Given the description of an element on the screen output the (x, y) to click on. 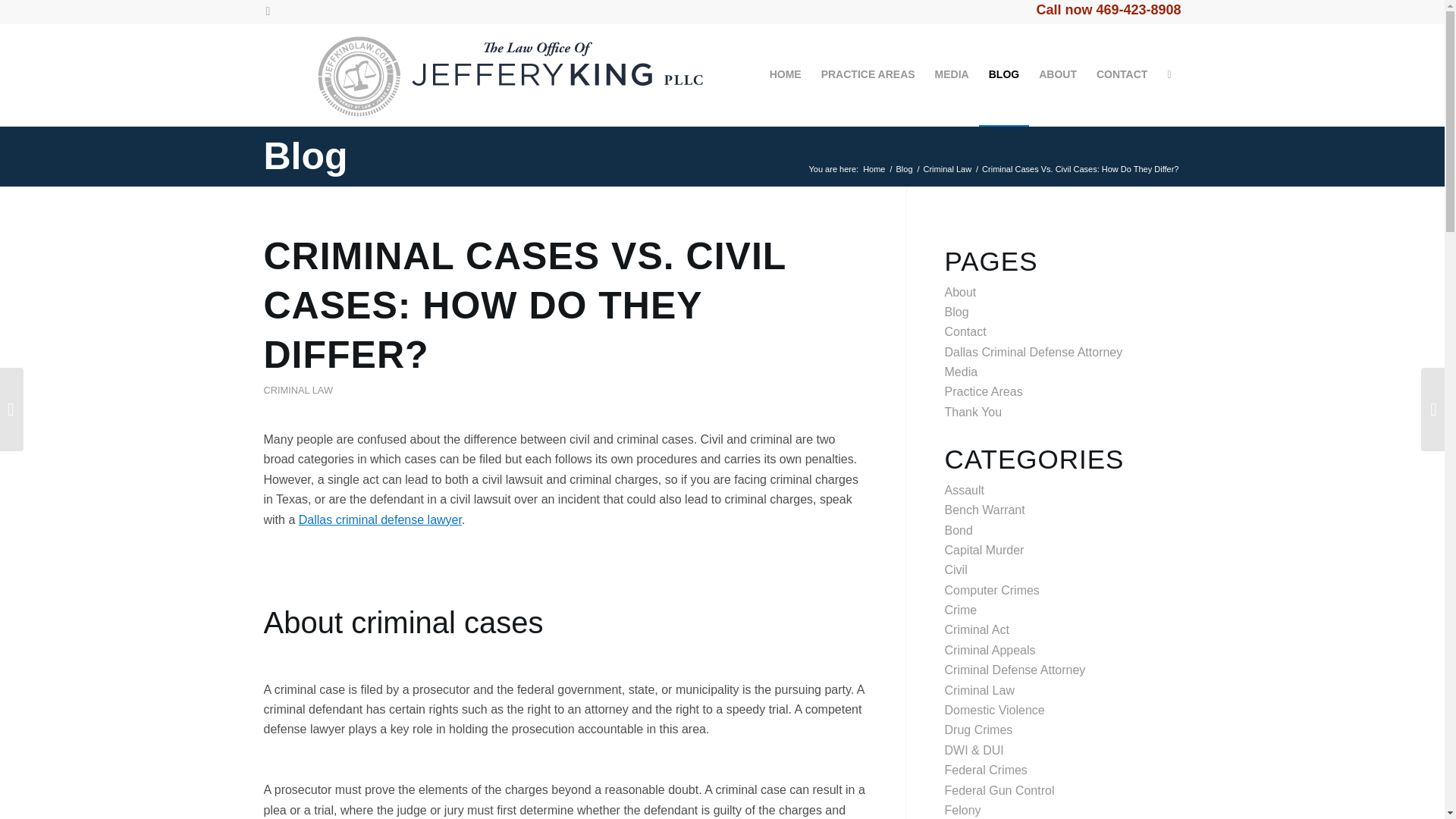
Jeff King Law (873, 169)
PRACTICE AREAS (867, 74)
Permanent Link: Blog (305, 156)
Blog (903, 169)
logo2 (486, 72)
Call now 469-423-8908 (1107, 9)
LinkedIn (267, 11)
logo2 (486, 74)
